Given the description of an element on the screen output the (x, y) to click on. 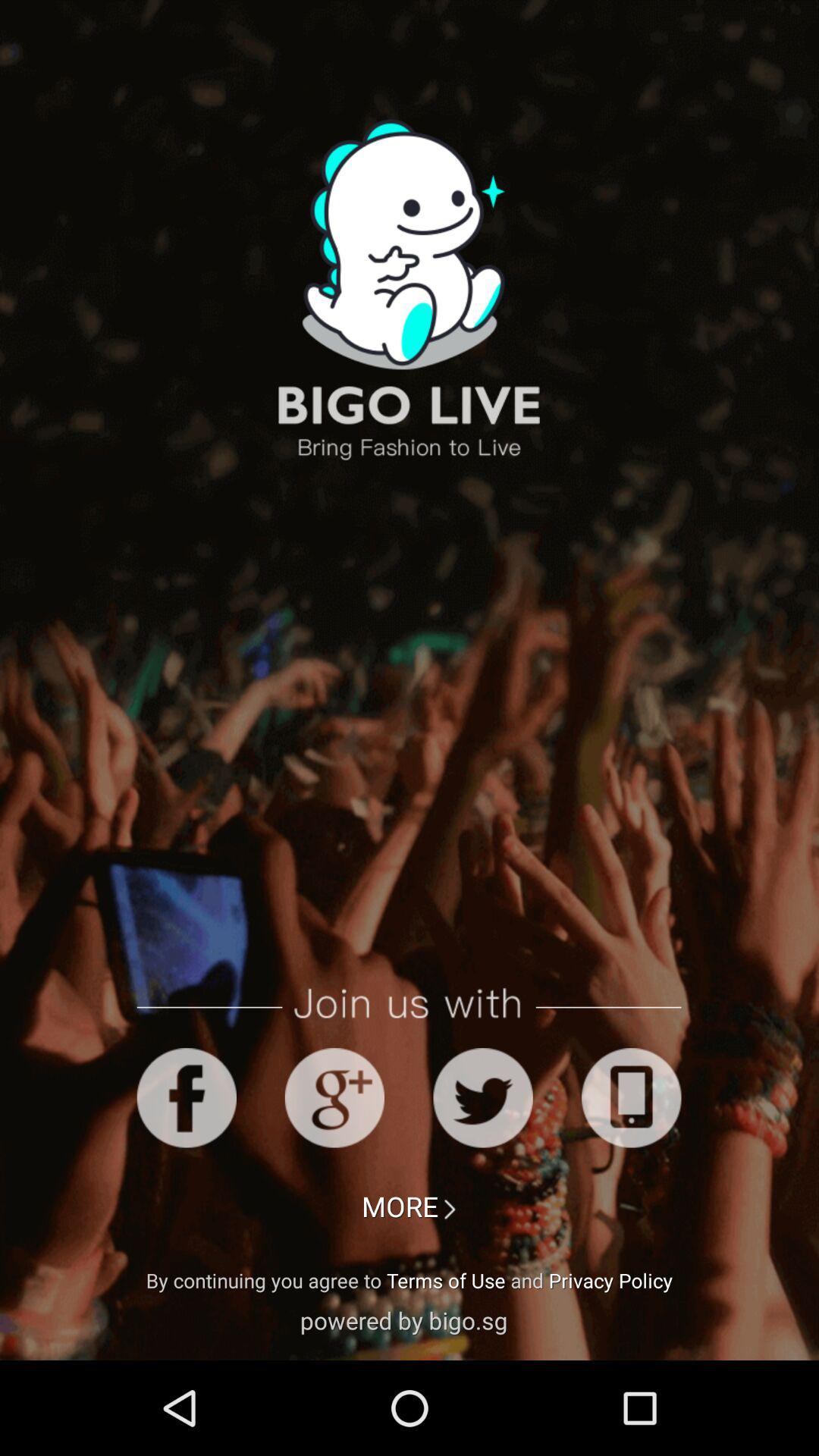
sign on using google login (334, 1097)
